Given the description of an element on the screen output the (x, y) to click on. 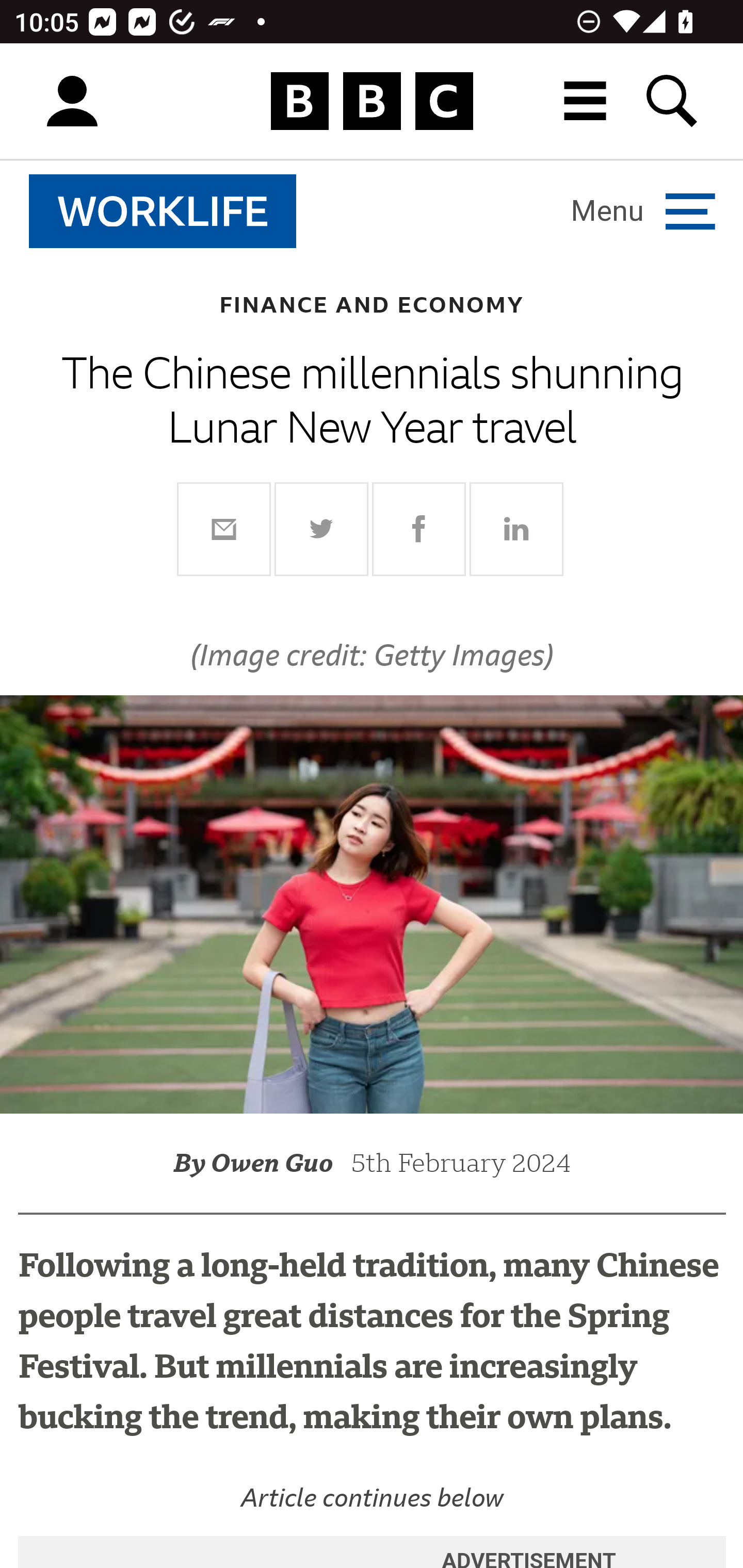
All BBC destinations menu (585, 100)
Search BBC (672, 100)
Sign in (71, 101)
Homepage (371, 101)
Open more navigation (643, 210)
worklife (162, 211)
FINANCE AND ECONOMY (371, 304)
 Share using Email  Share using Email (223, 528)
 Share on Twitter  Share on Twitter (322, 528)
 Share on Facebook  Share on Facebook (418, 528)
 Share on Linkedin  Share on Linkedin (516, 528)
By Owen Guo (262, 1162)
